Given the description of an element on the screen output the (x, y) to click on. 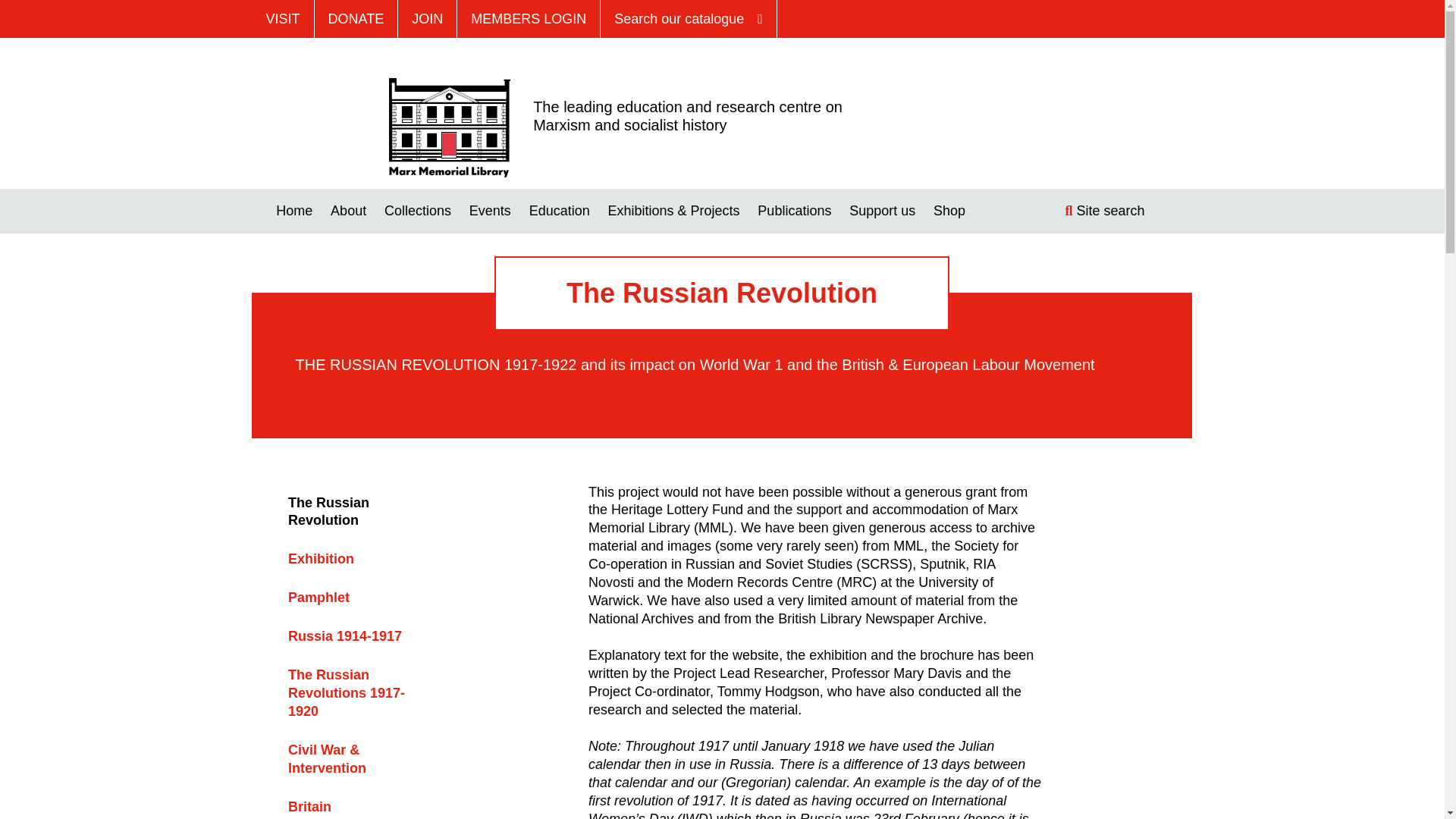
JOIN (427, 18)
Pamphlet (318, 597)
The Russian Revolutions 1917-1920 (346, 693)
The Russian Revolution (328, 510)
Education (559, 210)
Exhibition (320, 558)
Home (294, 210)
VISIT (281, 18)
Search our catalogue (688, 18)
Publications (794, 210)
Site search (1115, 211)
Support us (881, 210)
Home (449, 126)
Russia 1914-1917 (344, 635)
DONATE (356, 18)
